Given the description of an element on the screen output the (x, y) to click on. 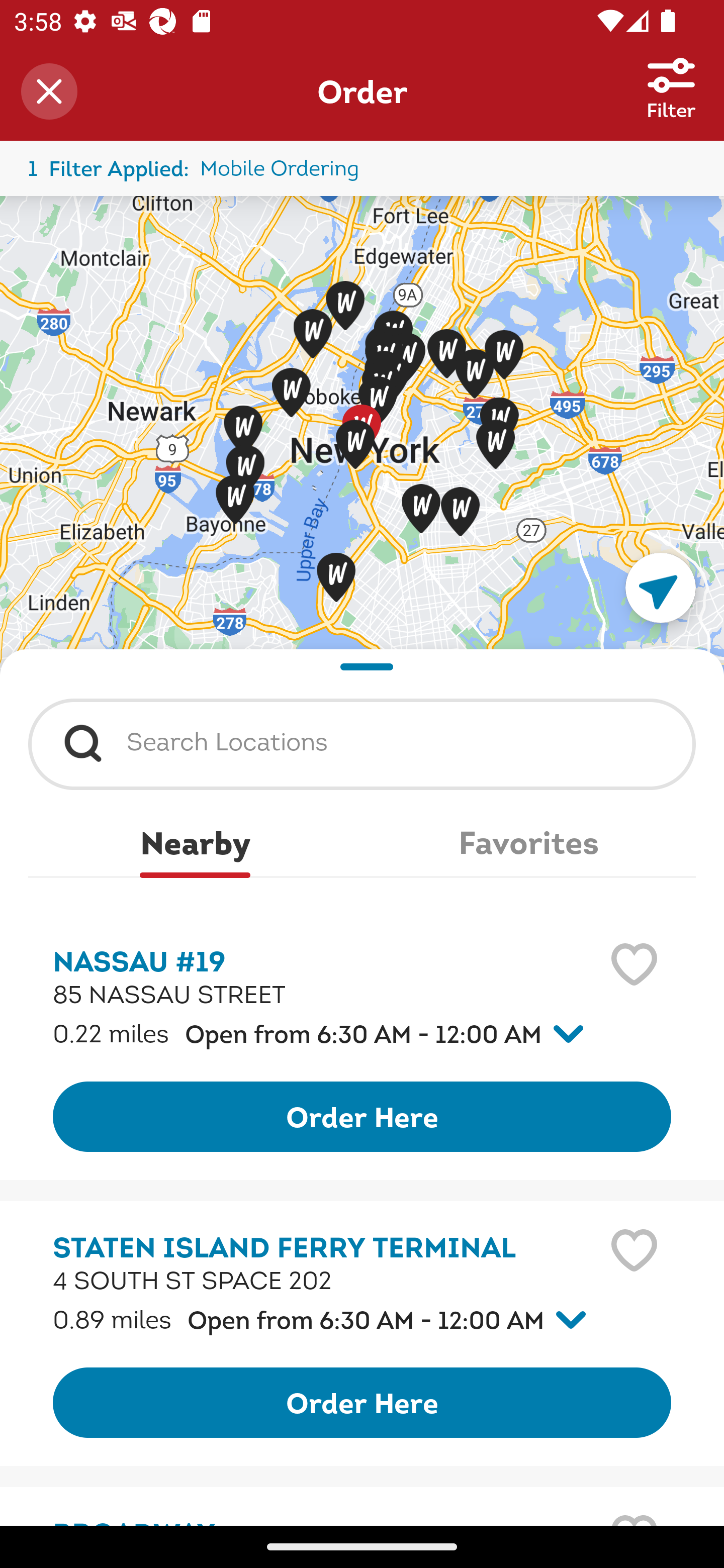
Close (49, 91)
Filters applied (670, 75)
1  Filter Applied:   Mobile Ordering (362, 168)
GO TO ORDER LOCATION (660, 587)
Search Locations (405, 739)
Favorites (528, 842)
un-favorited (634, 964)
Order Here (361, 1116)
un-favorited (634, 1250)
Order Here (361, 1402)
